Given the description of an element on the screen output the (x, y) to click on. 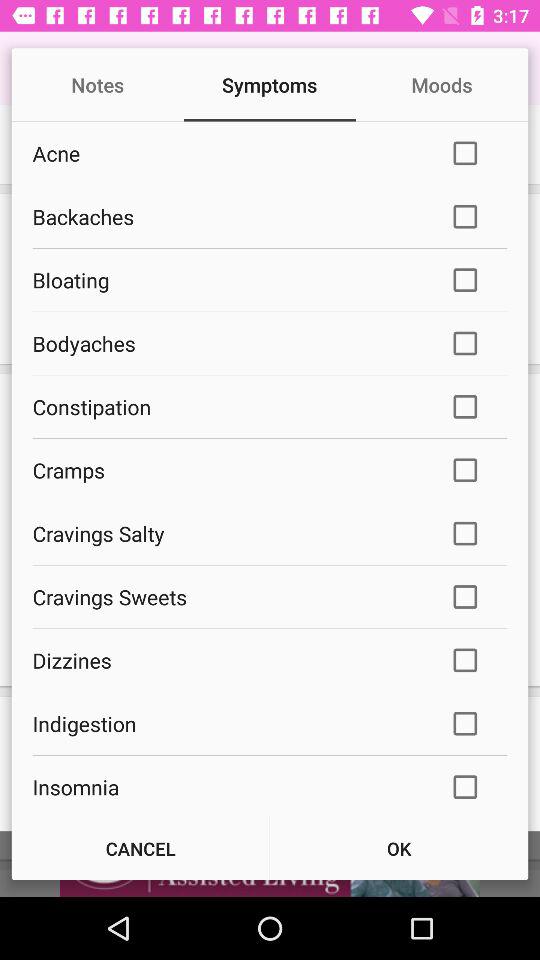
tap the ok (399, 848)
